Given the description of an element on the screen output the (x, y) to click on. 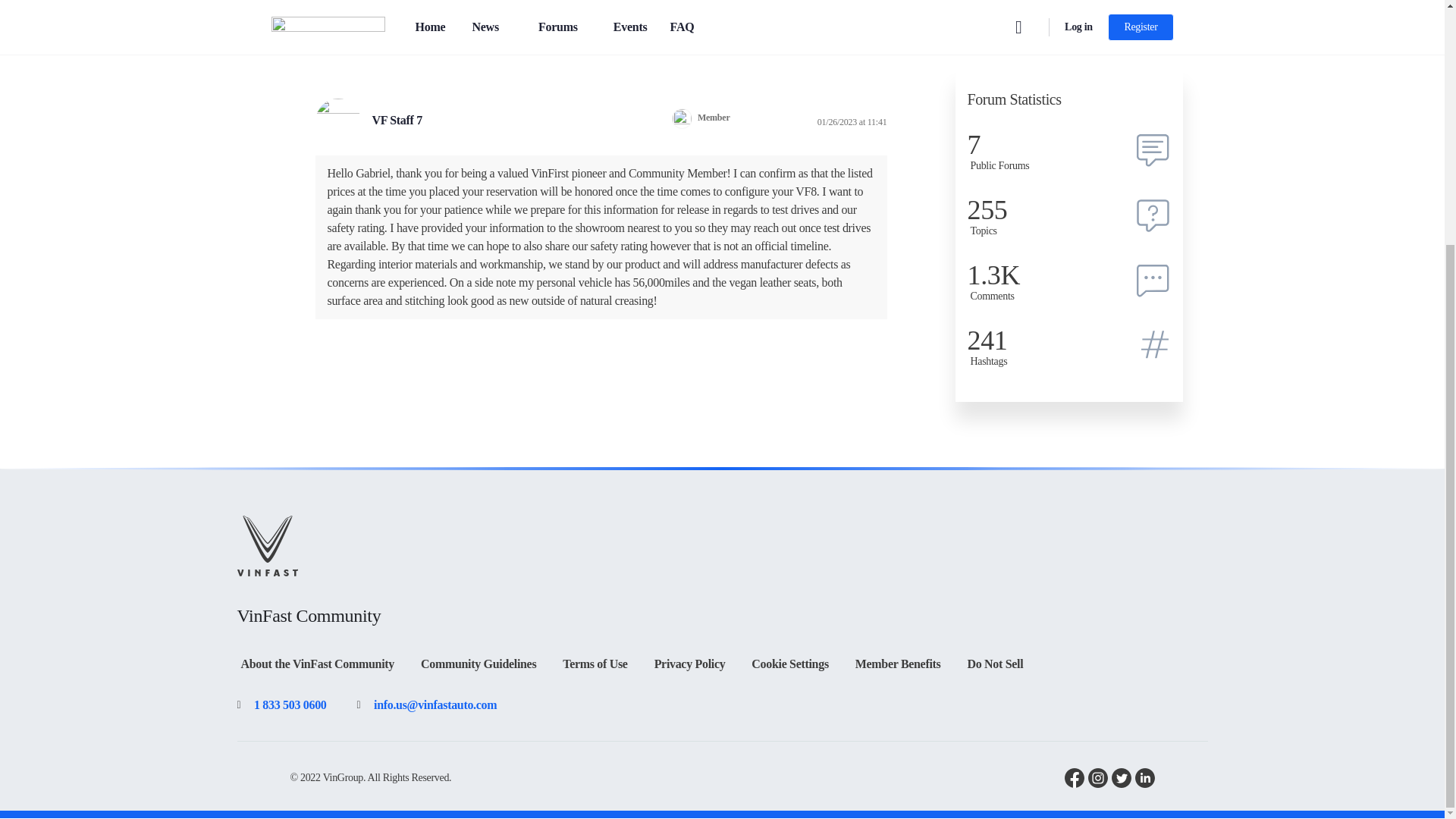
View VF Staff 7 's profile (338, 121)
Member (681, 117)
View VF Staff 7 's profile (400, 119)
